Given the description of an element on the screen output the (x, y) to click on. 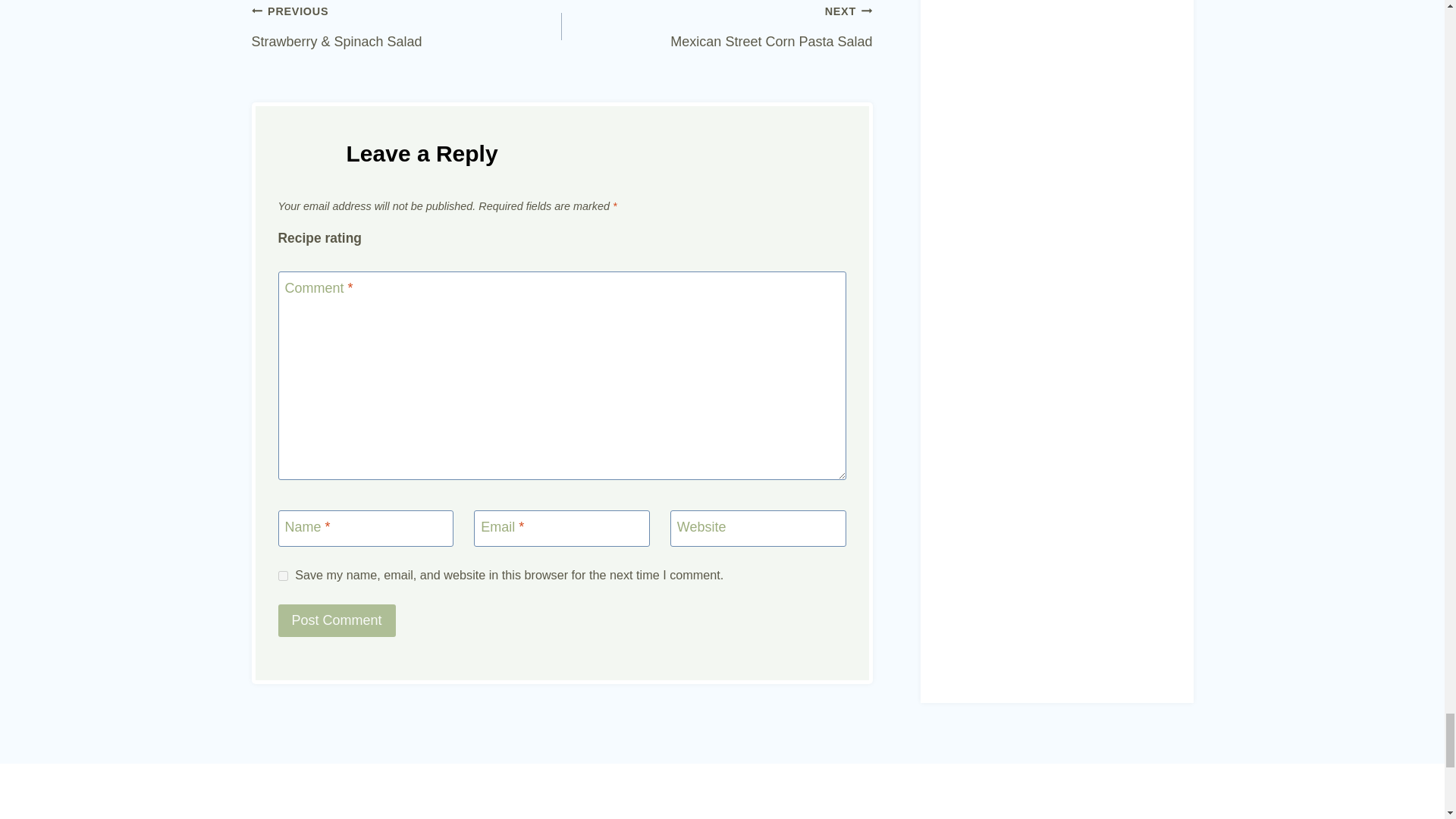
yes (282, 574)
Post Comment (336, 620)
